Given the description of an element on the screen output the (x, y) to click on. 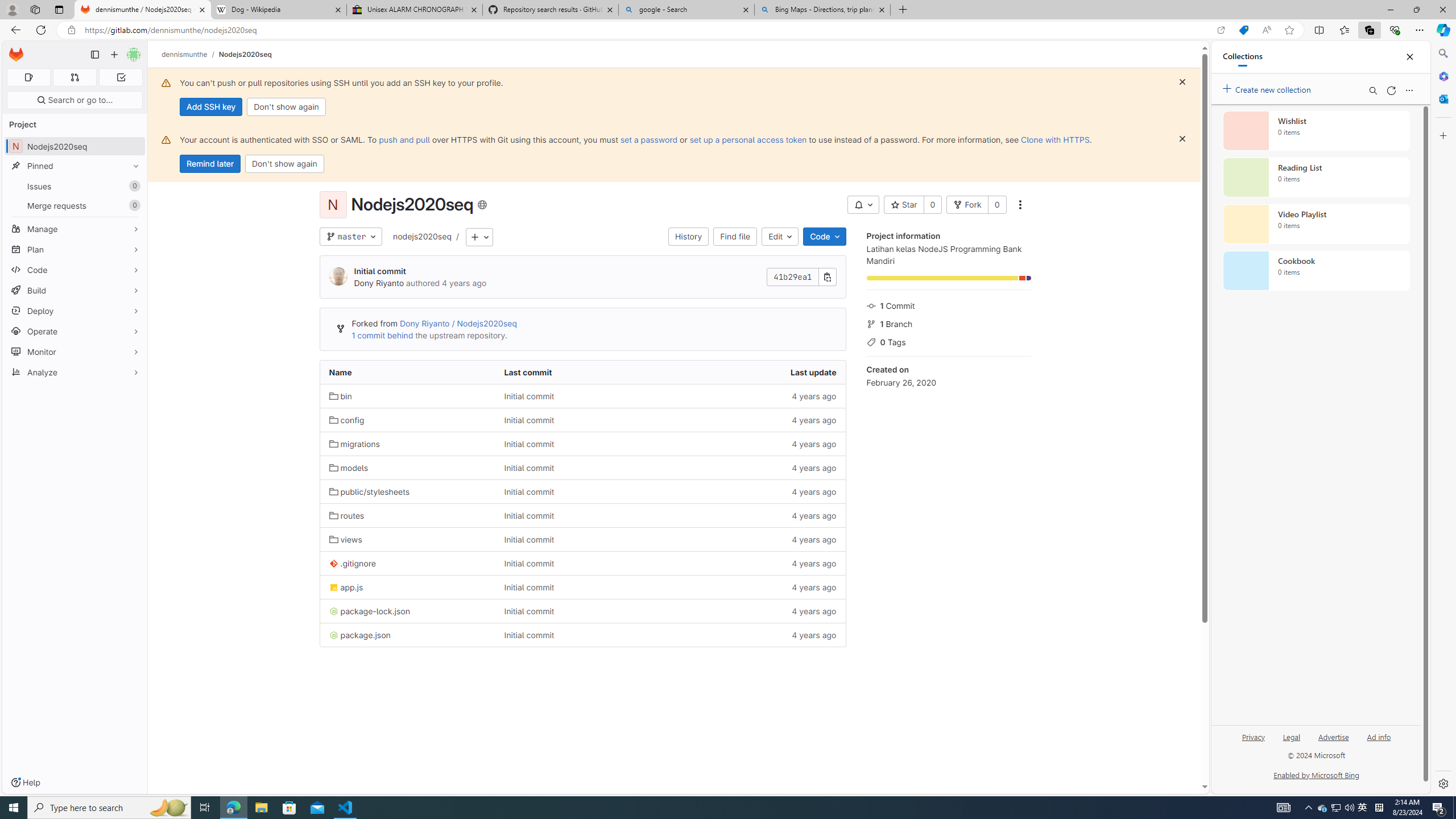
Add SSH key (211, 106)
Reading List collection, 0 items (1316, 177)
Code (74, 269)
Build (74, 289)
Unpin Issues (132, 186)
View site information (70, 29)
Dony Riyanto / Nodejs2020seq (457, 323)
Minimize (1390, 9)
Last update (757, 372)
Create new collection (1268, 87)
Read aloud this page (Ctrl+Shift+U) (1266, 29)
models (348, 467)
Ad info (1378, 736)
Fork (967, 204)
Find file (735, 236)
